Given the description of an element on the screen output the (x, y) to click on. 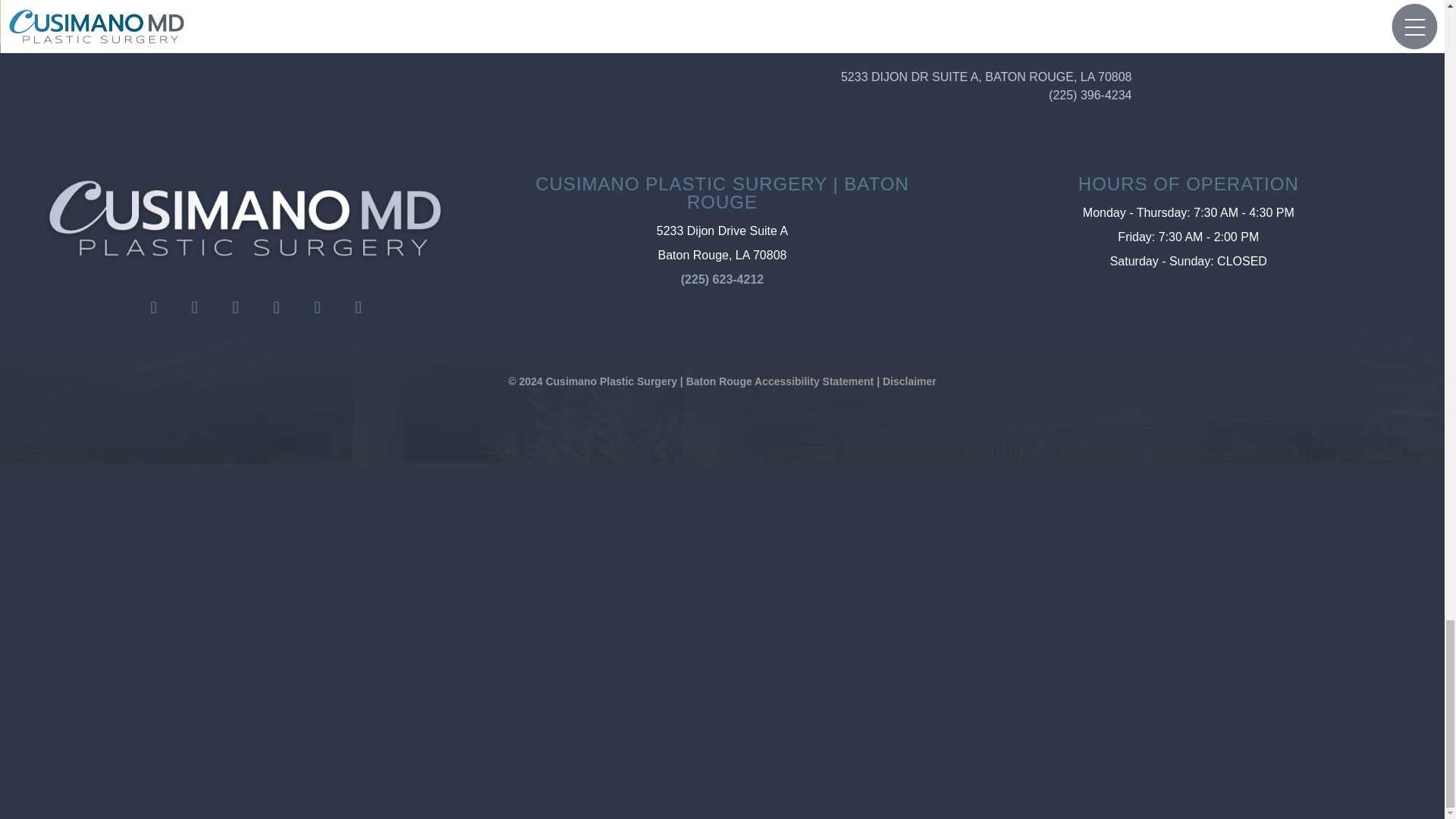
Follow on Youtube (316, 307)
google map (635, 614)
Follow on X (235, 307)
Follow on Instagram (194, 307)
Follow on LinkedIn (276, 307)
Follow on Facebook (153, 307)
baton-rouge-plastic-surgery-logo-1 (244, 219)
Follow on Yelp (357, 307)
